Given the description of an element on the screen output the (x, y) to click on. 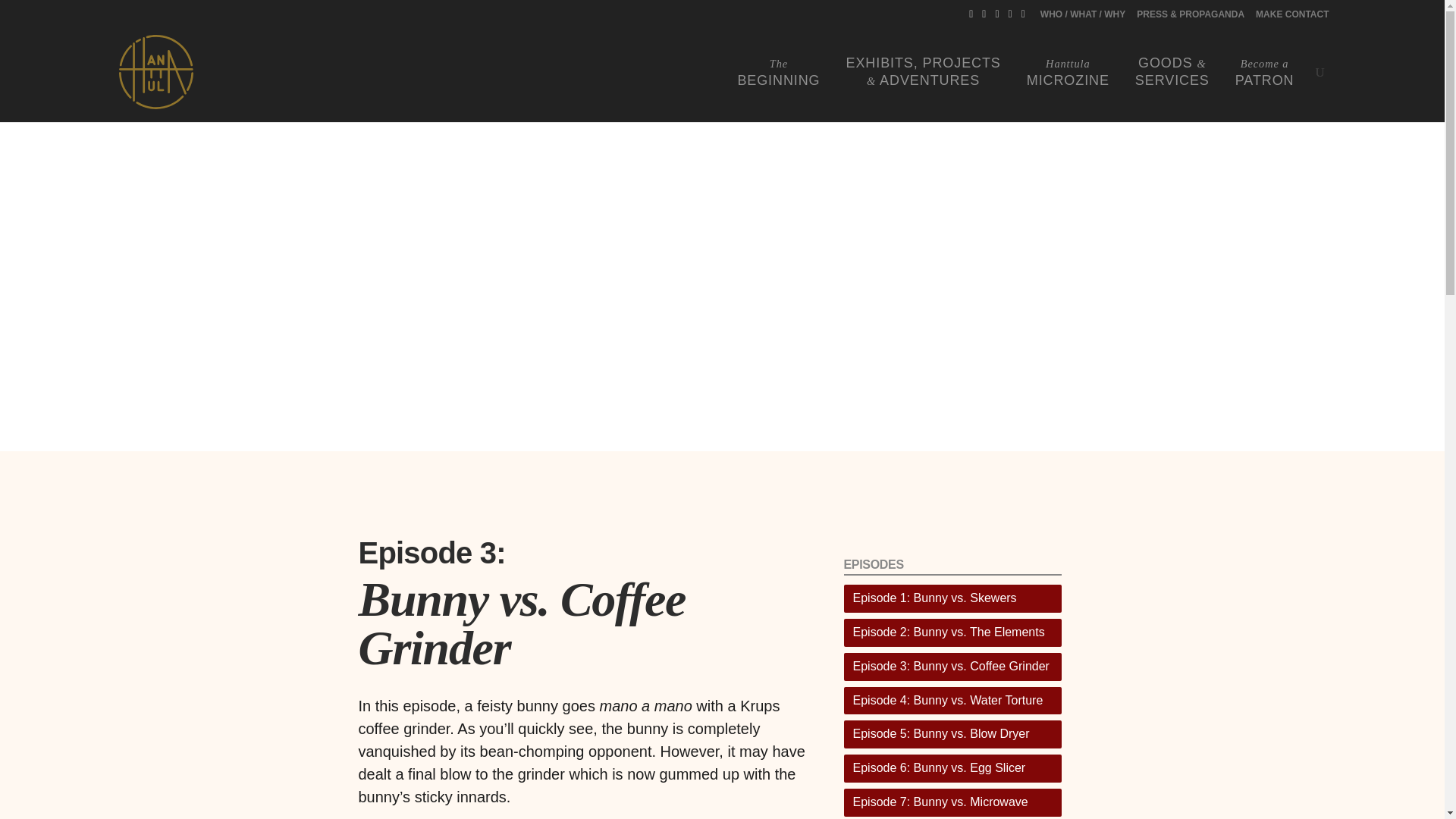
Episode 5: Bunny vs. Blow Dryer (952, 734)
Episode 6: Bunny vs. Egg Slicer (952, 768)
Episode 1: Bunny vs. Skewers (778, 72)
Episode 4: Bunny vs. Water Torture (952, 598)
MAKE CONTACT (952, 700)
Episode 2: Bunny vs. The Elements (1291, 16)
Episode 7: Bunny vs. Microwave (1067, 72)
Episode 3: Bunny vs. Coffee Grinder (952, 633)
